Given the description of an element on the screen output the (x, y) to click on. 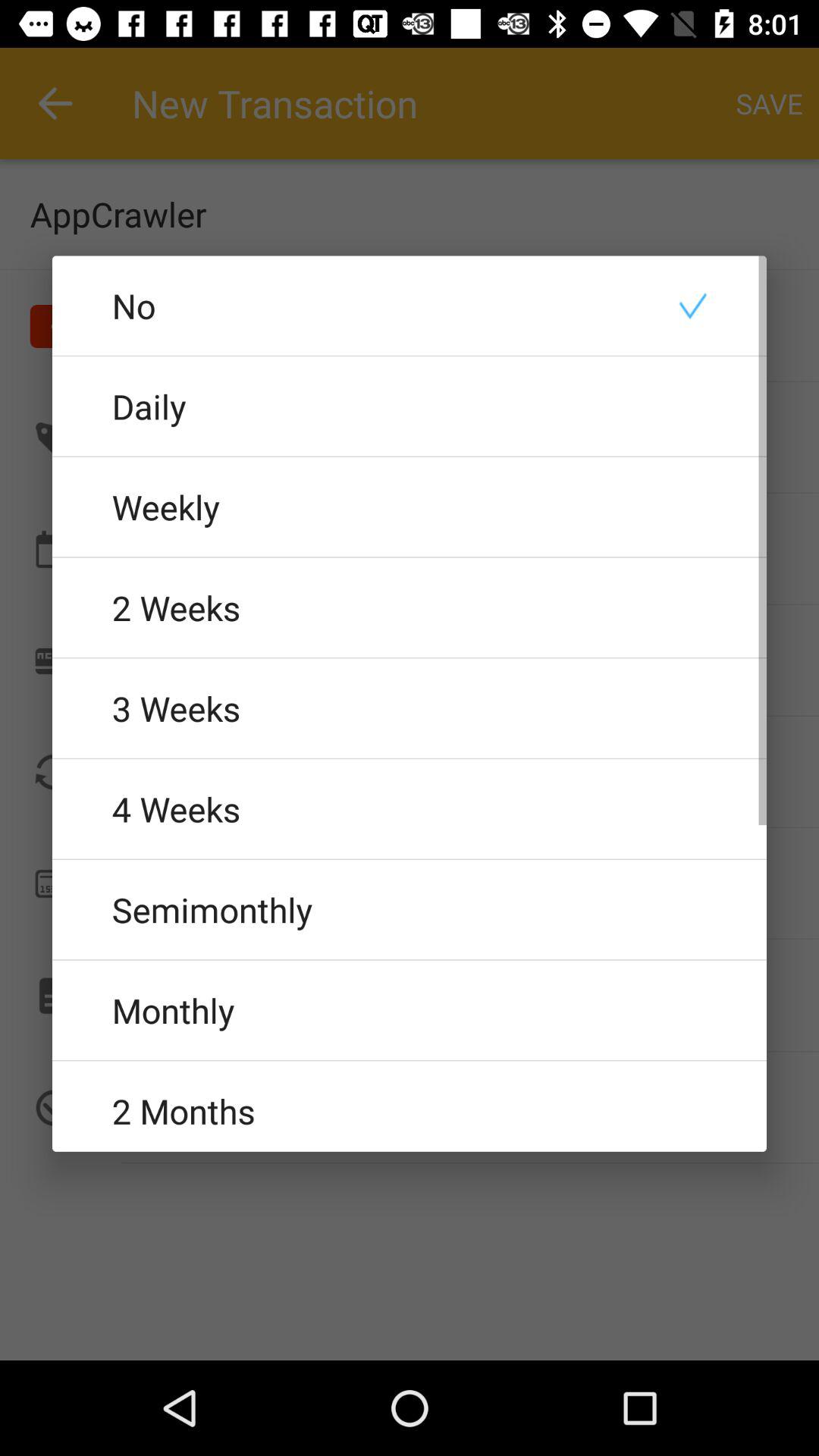
jump until no icon (409, 305)
